Given the description of an element on the screen output the (x, y) to click on. 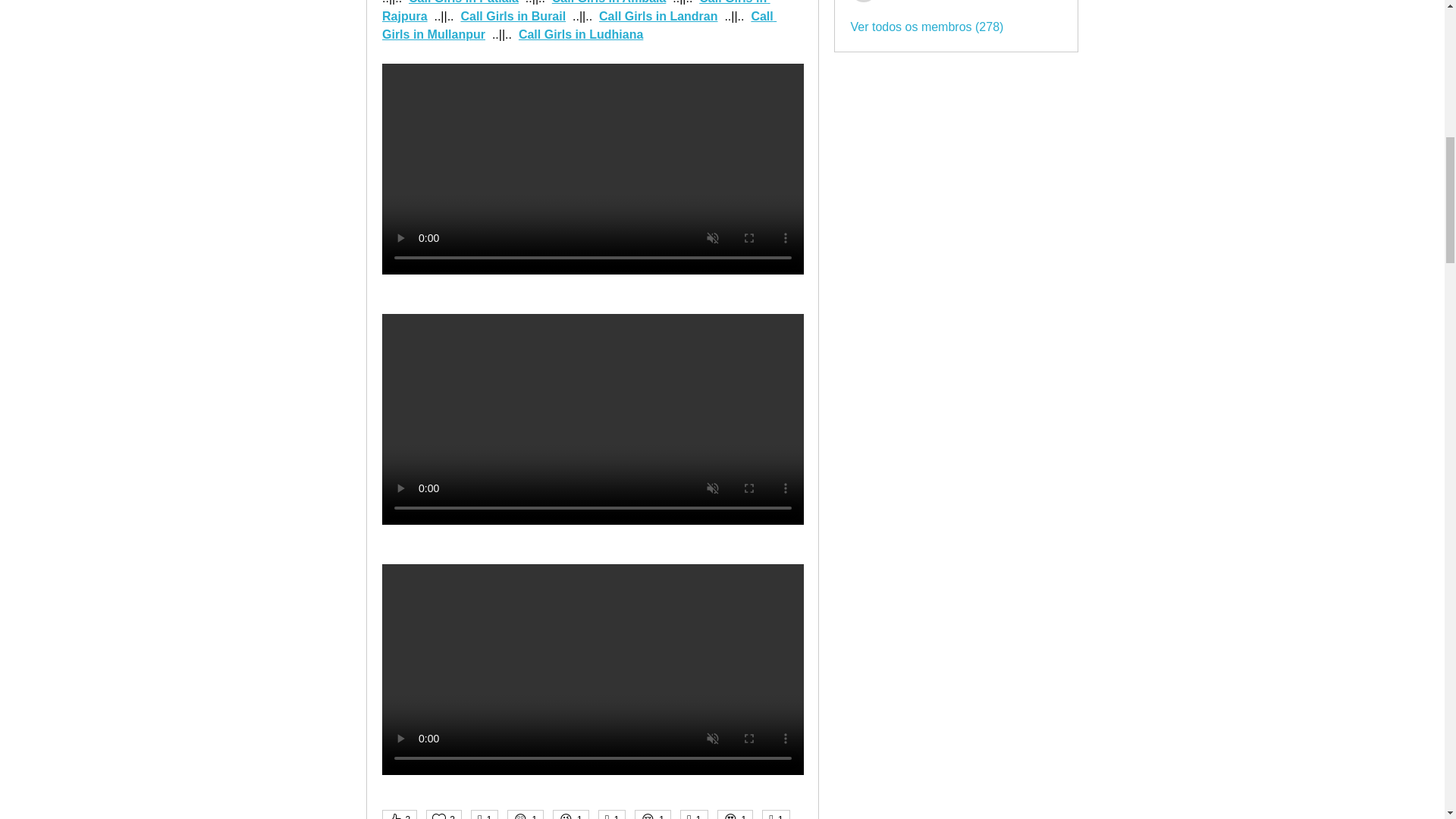
Call Girls in Patiala (462, 2)
Call Girls in Ambala (608, 2)
Call Girls in Landran (657, 15)
Call Girls in Rajpura (575, 11)
